Given the description of an element on the screen output the (x, y) to click on. 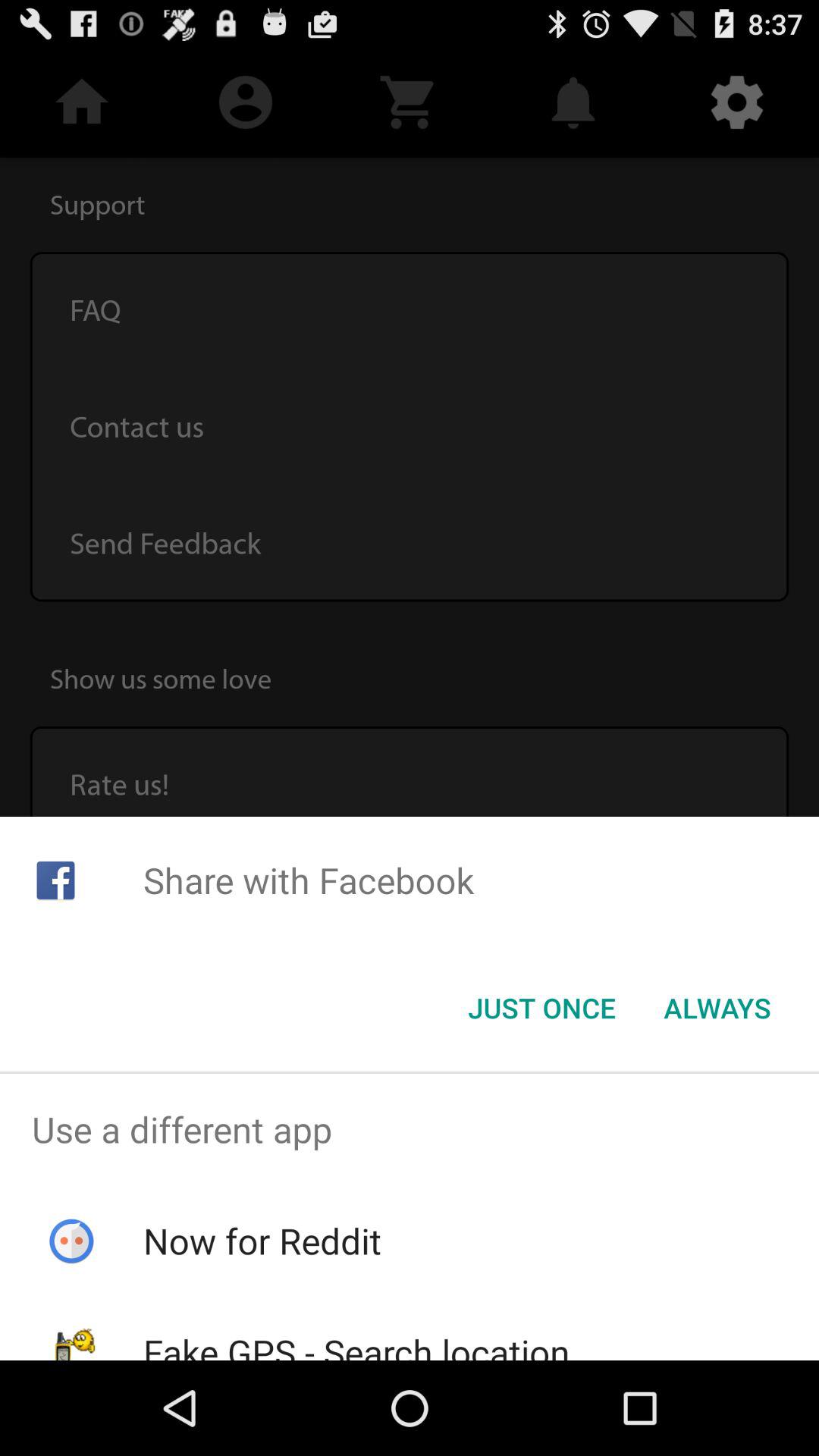
swipe to the use a different (409, 1129)
